Given the description of an element on the screen output the (x, y) to click on. 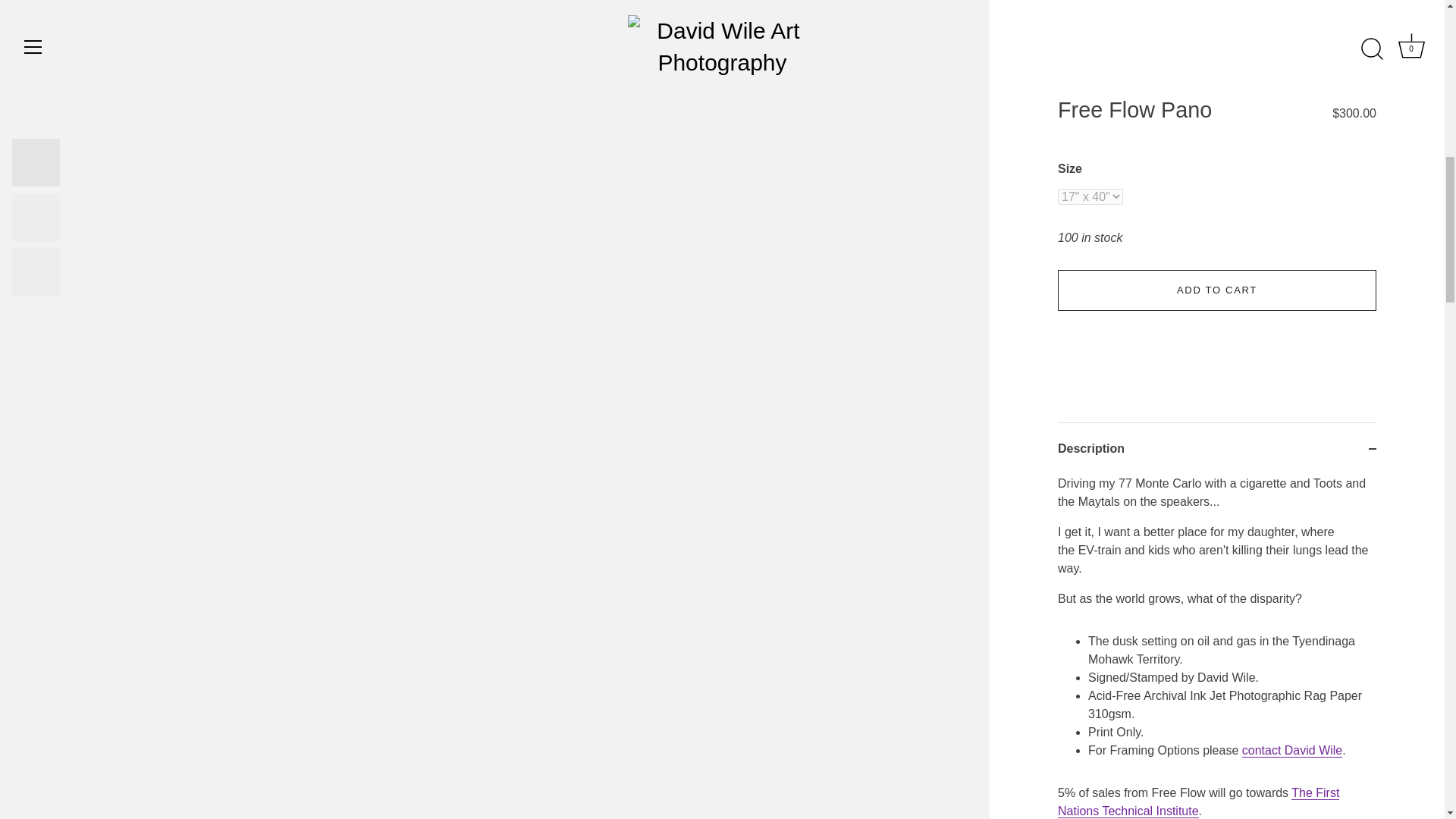
Share on Facebook (1064, 85)
Pin it (1144, 85)
Share on Twitter (1103, 85)
